Given the description of an element on the screen output the (x, y) to click on. 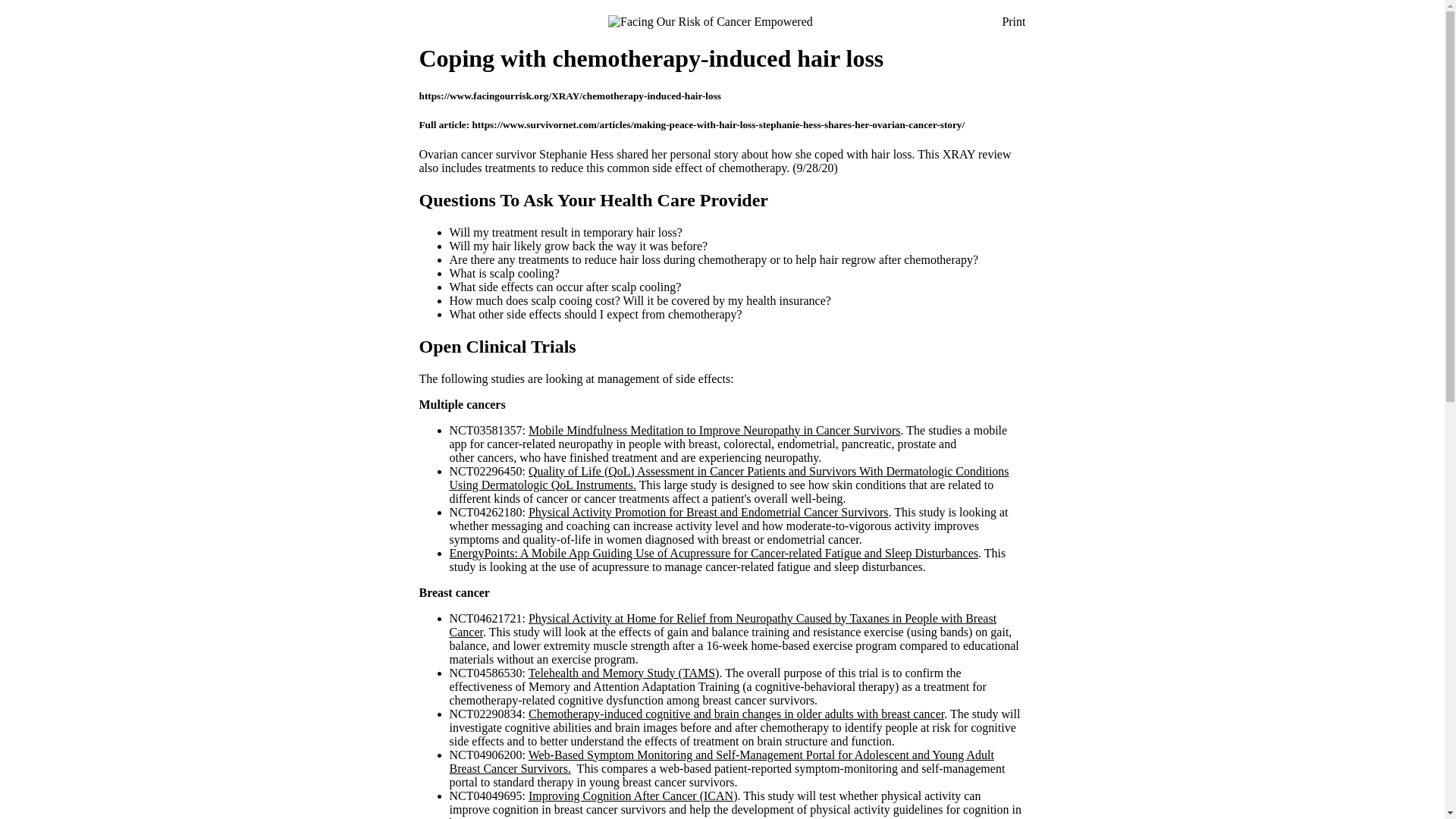
Print (1013, 21)
